Given the description of an element on the screen output the (x, y) to click on. 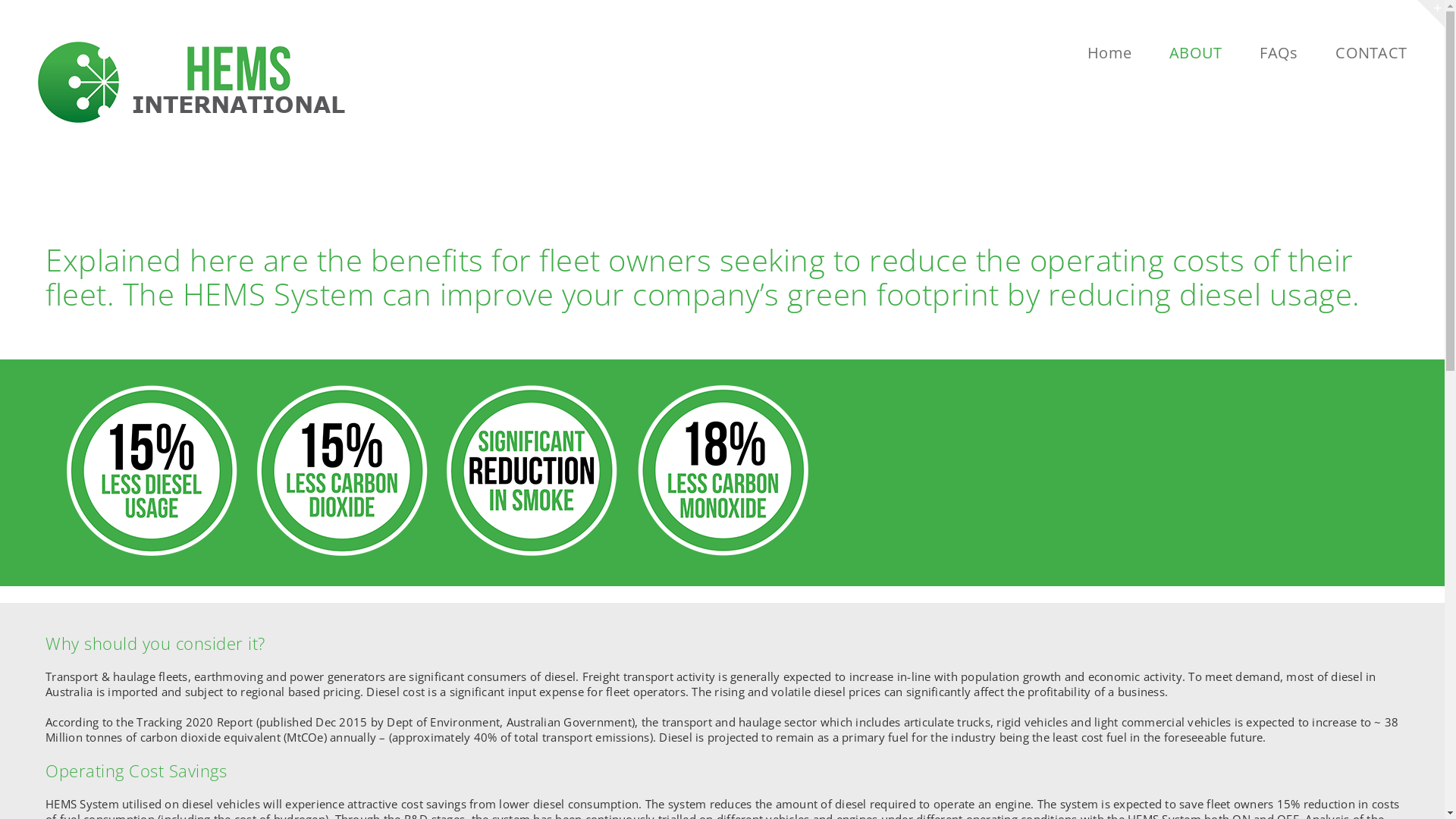
FAQs Element type: text (1278, 53)
Benefits and Reducing Emissions Circles Element type: hover (437, 472)
ABOUT Element type: text (1195, 53)
CONTACT Element type: text (1370, 53)
Home Element type: text (1109, 53)
Toggle Sliding Bar Area Element type: text (1430, 13)
